Given the description of an element on the screen output the (x, y) to click on. 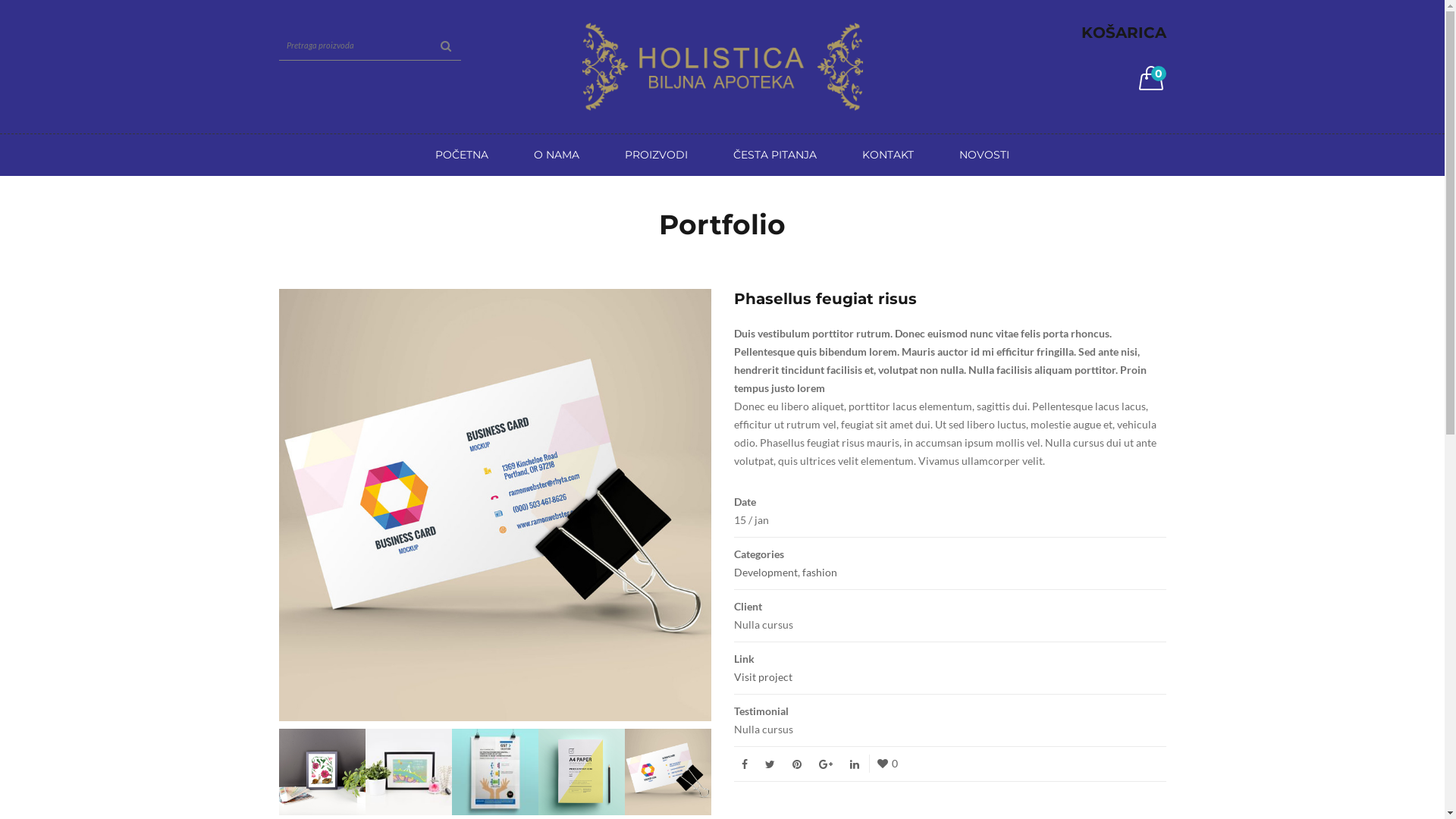
NOVOSTI Element type: text (984, 154)
0 Element type: text (1150, 80)
fashion Element type: text (819, 571)
7 Element type: hover (581, 769)
6 Element type: hover (667, 769)
KONTAKT Element type: text (887, 154)
O NAMA Element type: text (556, 154)
9 Element type: hover (408, 769)
PROIZVODI Element type: text (656, 154)
0 Element type: text (886, 762)
Visit project Element type: text (763, 676)
8 Element type: hover (494, 769)
Holistica Element type: hover (722, 65)
Development Element type: text (765, 571)
Search for: Element type: hover (370, 45)
10 Element type: hover (322, 769)
